Given the description of an element on the screen output the (x, y) to click on. 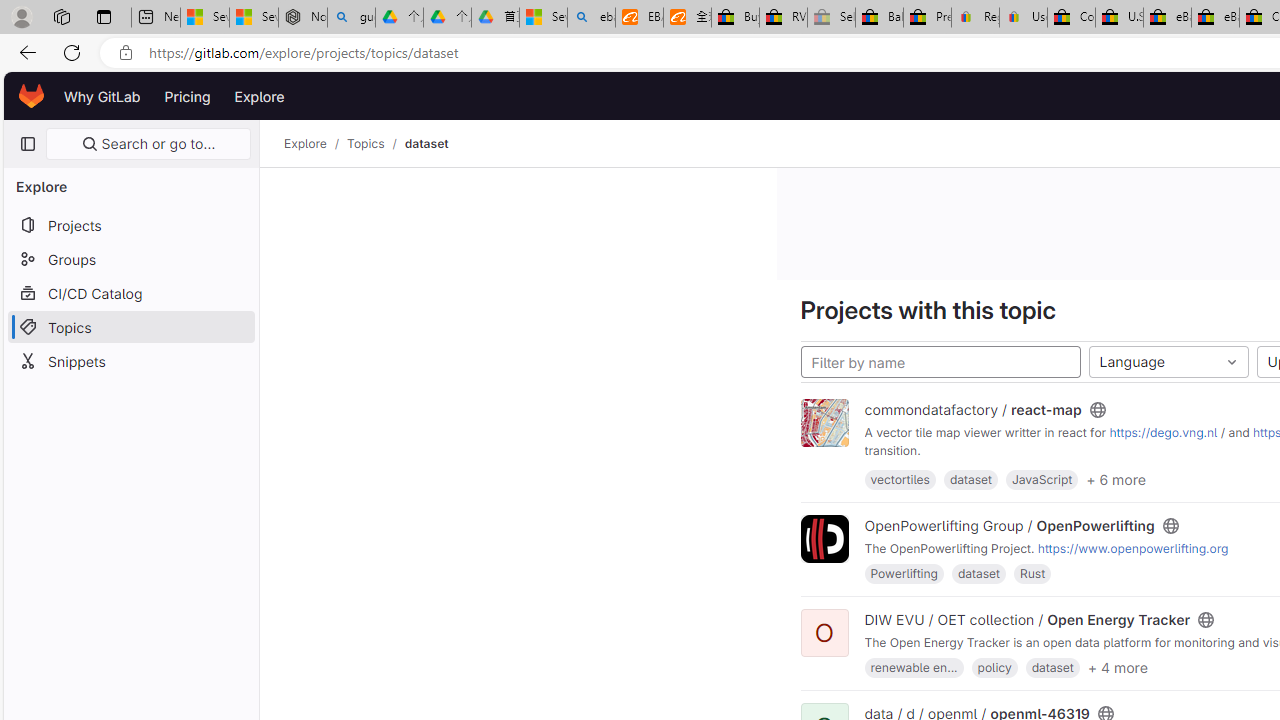
Pricing (187, 95)
Topics/ (375, 143)
Consumer Health Data Privacy Policy - eBay Inc. (1071, 17)
Class: s16 (1206, 620)
Press Room - eBay Inc. (927, 17)
Filter by name (940, 362)
Groups (130, 259)
Register: Create a personal eBay account (975, 17)
Pricing (187, 95)
ebay - Search (591, 17)
Rust (1032, 573)
Workspaces (61, 16)
Class: project (824, 538)
